Given the description of an element on the screen output the (x, y) to click on. 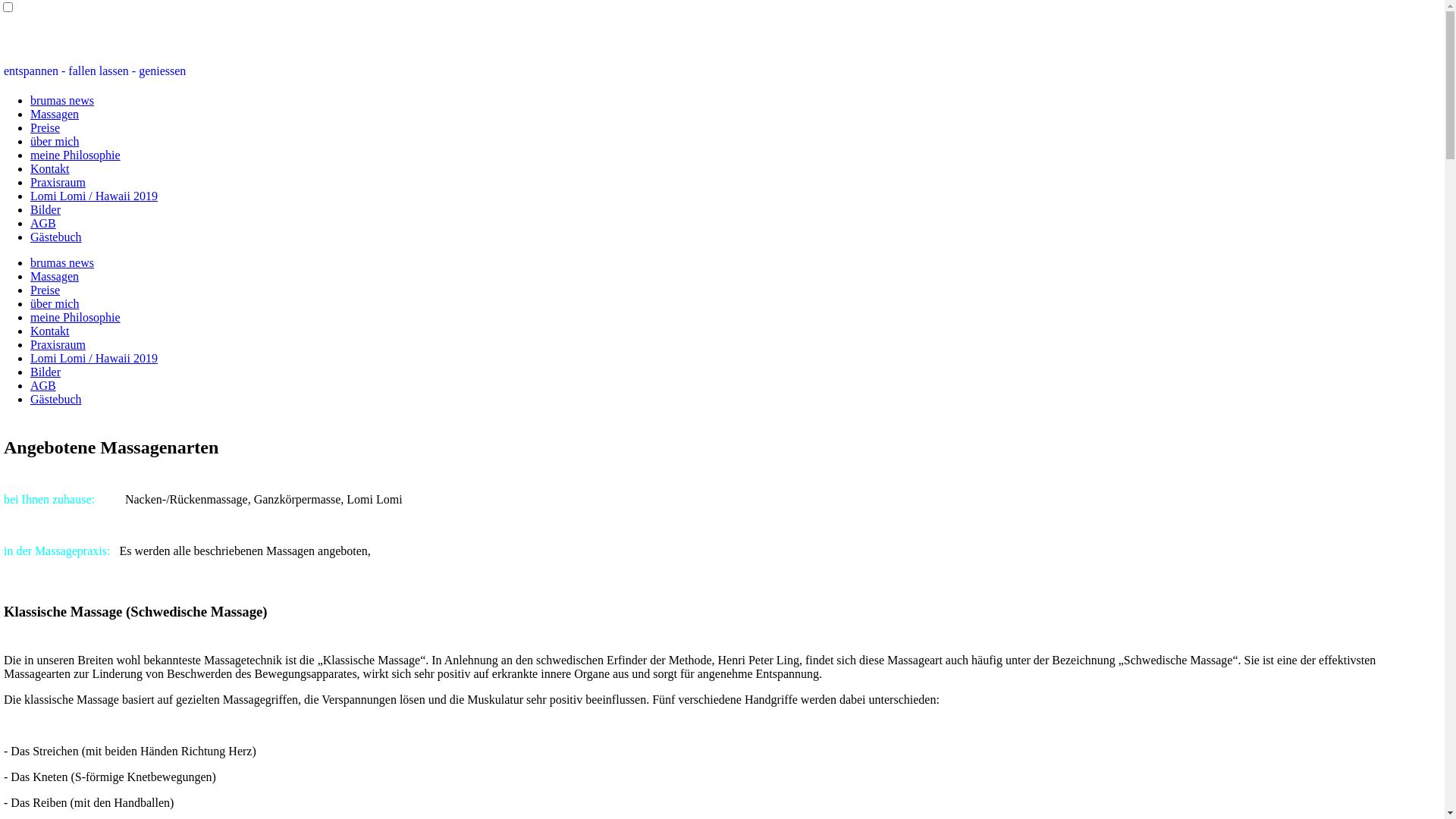
Praxisraum Element type: text (57, 344)
Massagen Element type: text (54, 275)
entspannen - fallen lassen - geniessen Element type: text (94, 70)
Kontakt Element type: text (49, 168)
Bilder Element type: text (45, 371)
Lomi Lomi / Hawaii 2019 Element type: text (93, 357)
Preise Element type: text (44, 127)
Massagen Element type: text (54, 113)
Bilder Element type: text (45, 209)
meine Philosophie Element type: text (75, 316)
Lomi Lomi / Hawaii 2019 Element type: text (93, 195)
brumas news Element type: text (62, 100)
Preise Element type: text (44, 289)
Praxisraum Element type: text (57, 181)
AGB Element type: text (43, 385)
brumas news Element type: text (62, 262)
Kontakt Element type: text (49, 330)
meine Philosophie Element type: text (75, 154)
AGB Element type: text (43, 222)
